Given the description of an element on the screen output the (x, y) to click on. 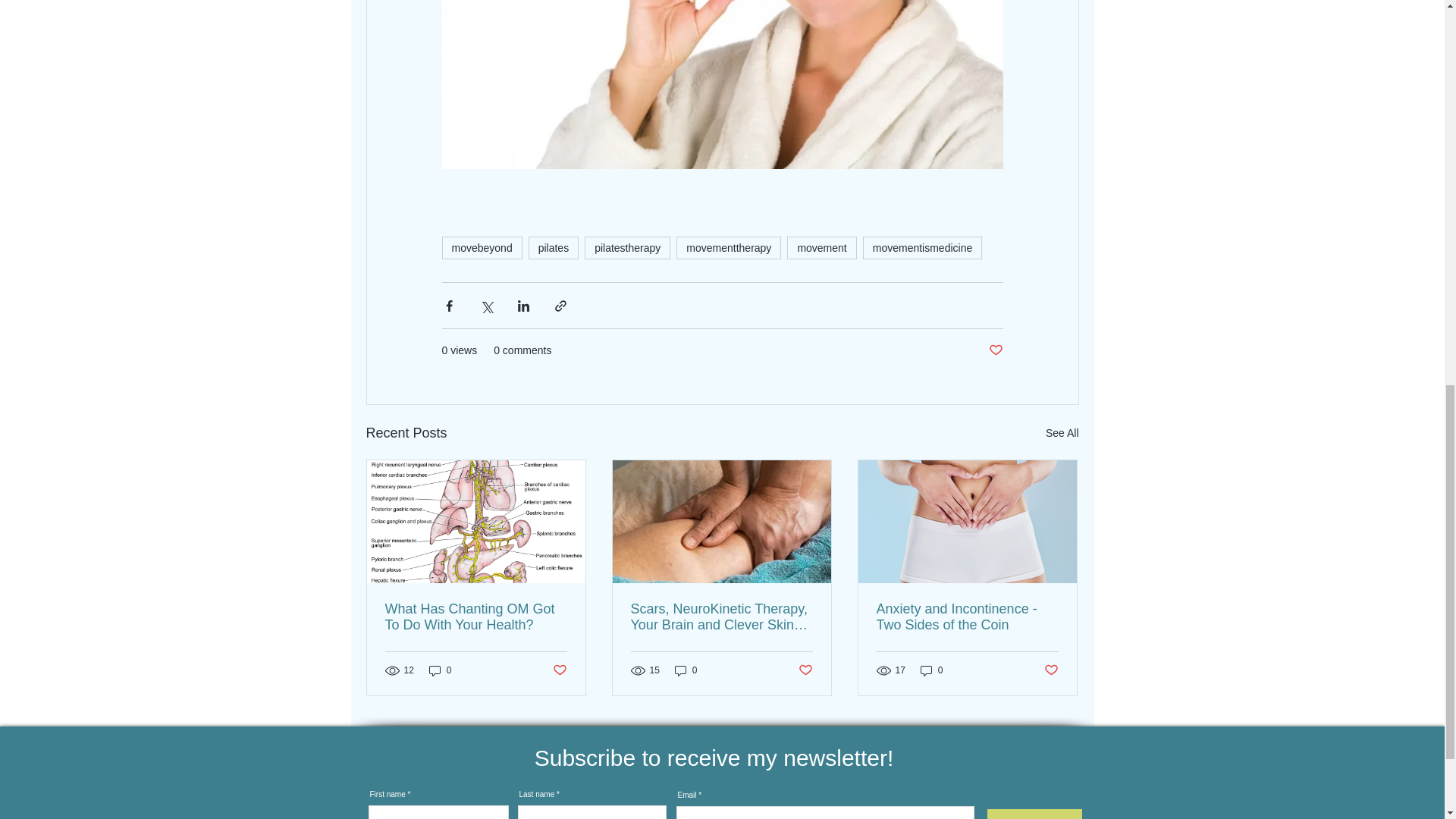
movementismedicine (922, 247)
Post not marked as liked (1050, 670)
0 (685, 670)
pilatestherapy (627, 247)
What Has Chanting OM Got To Do With Your Health? (476, 617)
movement (821, 247)
Subscribe (1034, 814)
Post not marked as liked (804, 670)
0 (440, 670)
movebeyond (481, 247)
movementtherapy (728, 247)
0 (931, 670)
pilates (553, 247)
See All (1061, 433)
Post not marked as liked (558, 670)
